Given the description of an element on the screen output the (x, y) to click on. 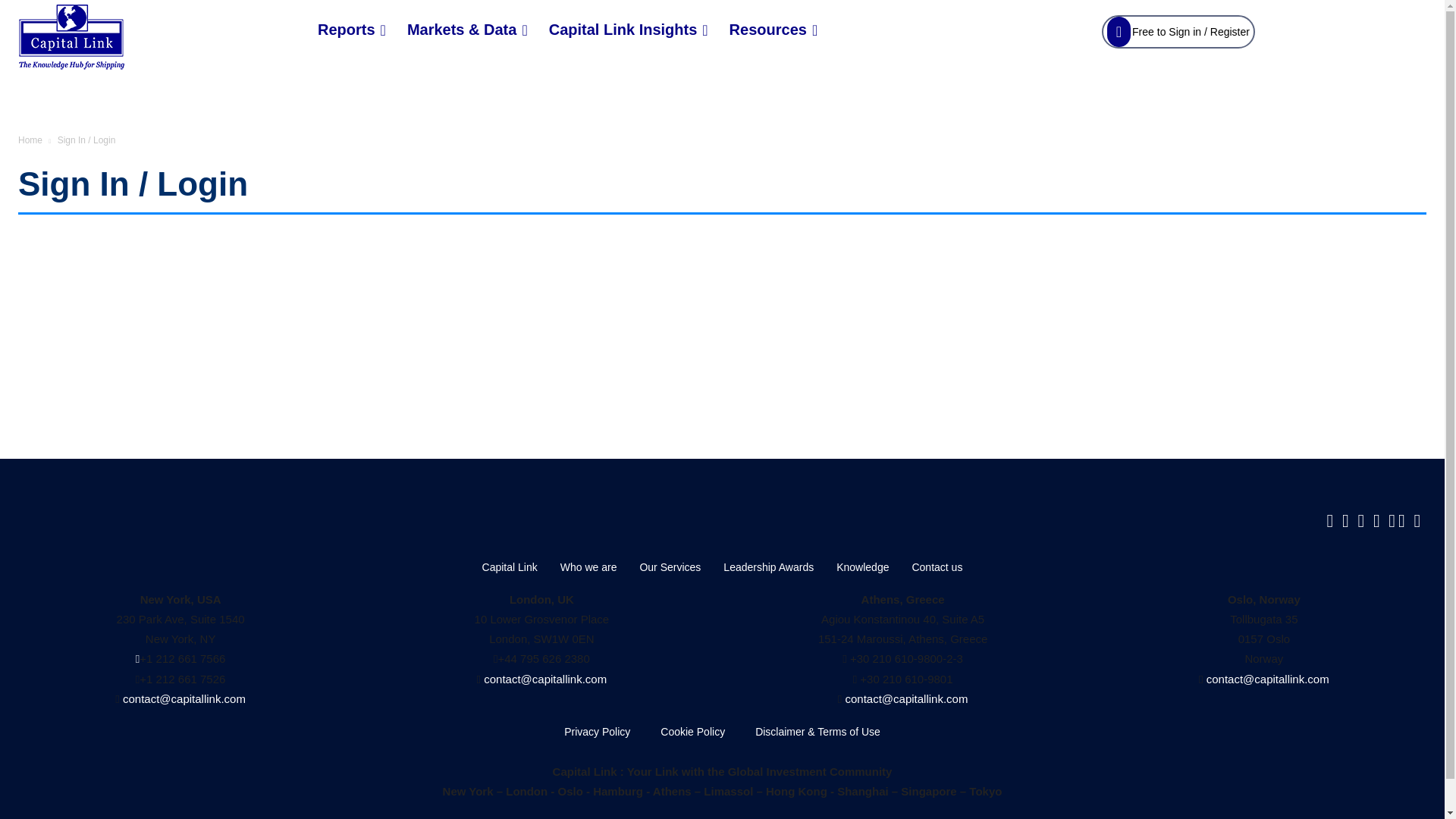
CAPITAL LINK - SHIPPING SITE (70, 36)
CAPITAL LINK - SHIPPING SITE (143, 36)
